Given the description of an element on the screen output the (x, y) to click on. 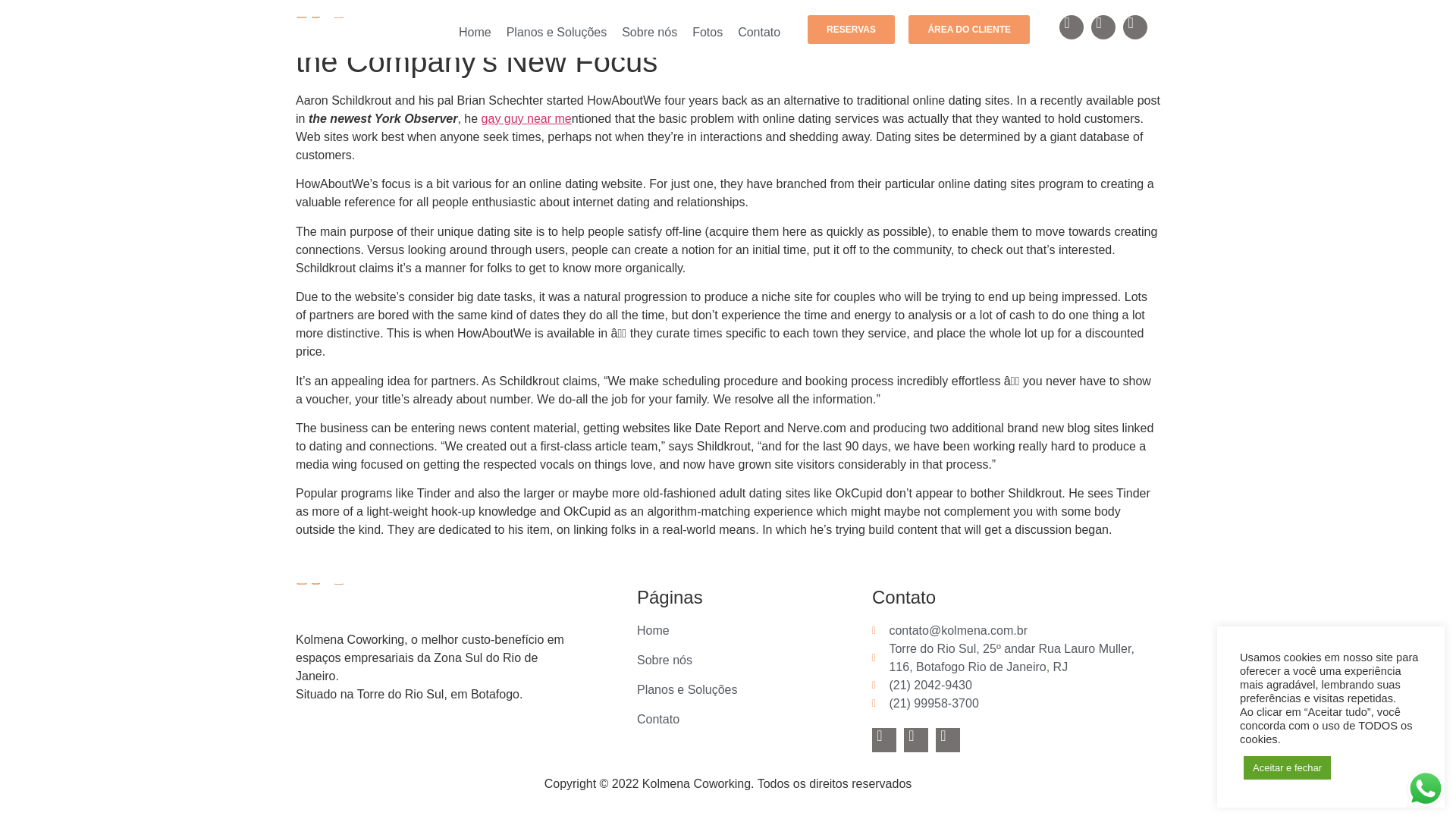
Fotos (707, 32)
Contato (758, 32)
gay guy near me (526, 118)
RESERVAS (851, 29)
Home (475, 32)
Home (754, 630)
